Given the description of an element on the screen output the (x, y) to click on. 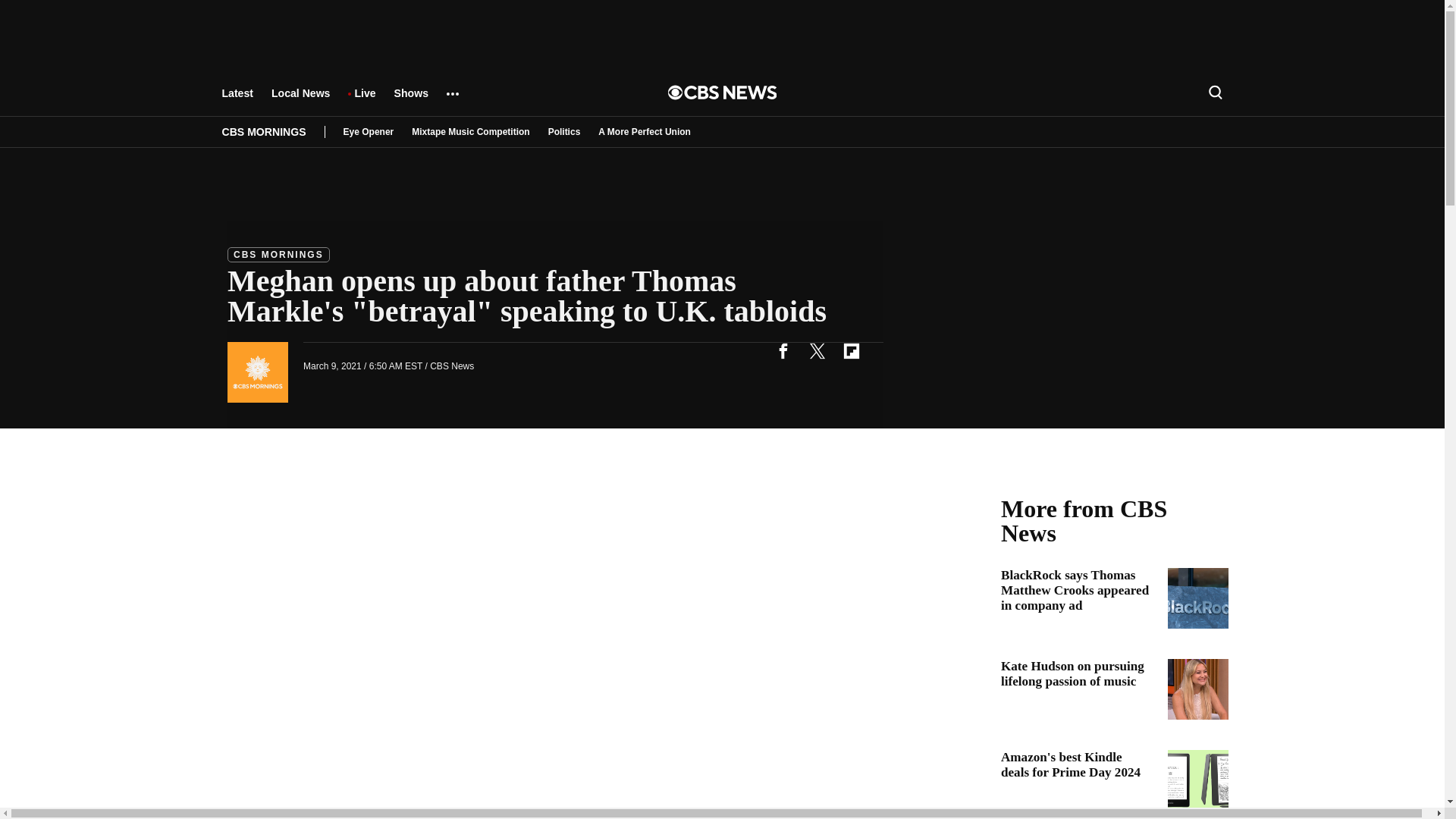
facebook (782, 350)
flipboard (850, 350)
Latest (236, 100)
twitter (816, 350)
Local News (300, 100)
